Given the description of an element on the screen output the (x, y) to click on. 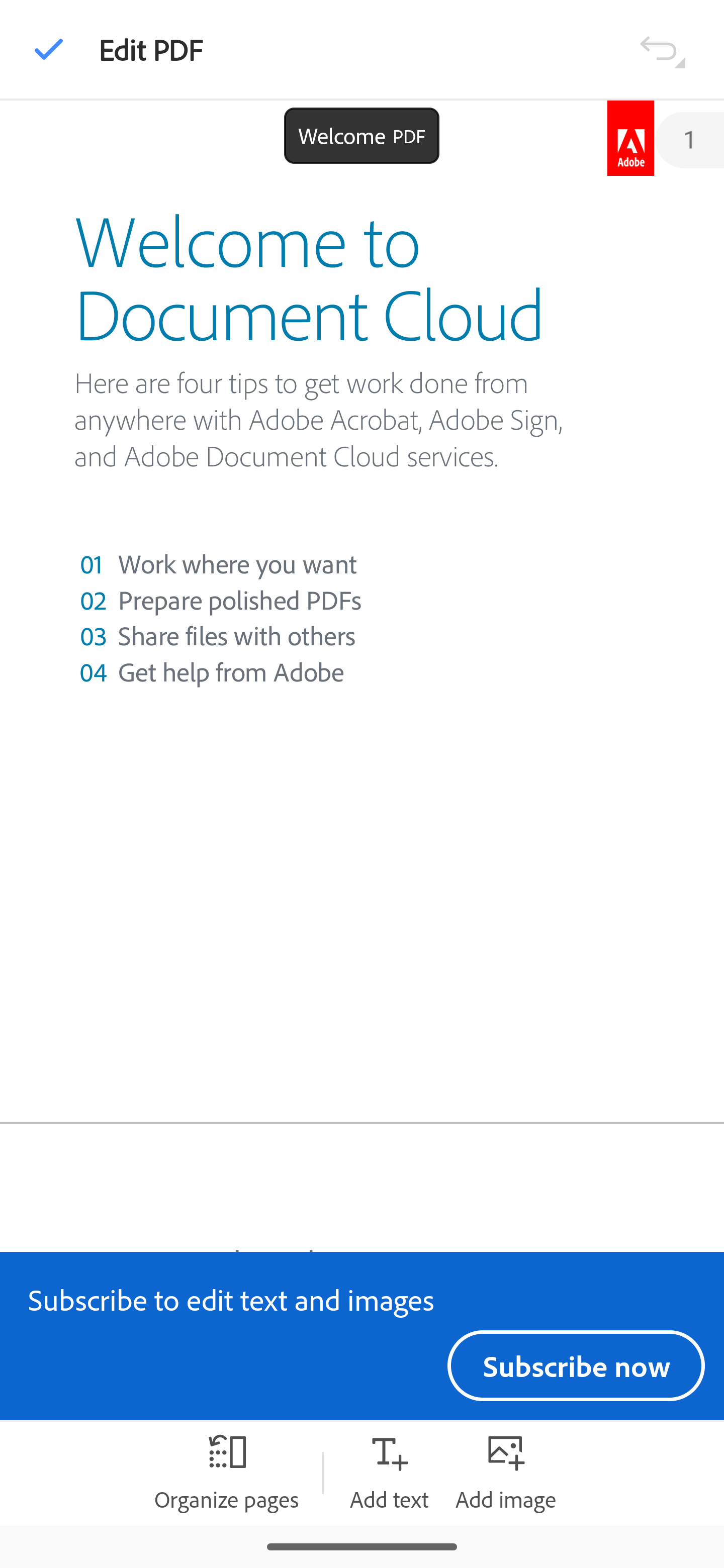
Done (49, 49)
Undo Disabled (662, 48)
Subscribe now (575, 1365)
Organize pages (226, 1472)
Organize pages Add text (389, 1472)
Organize pages Add image (505, 1472)
